Given the description of an element on the screen output the (x, y) to click on. 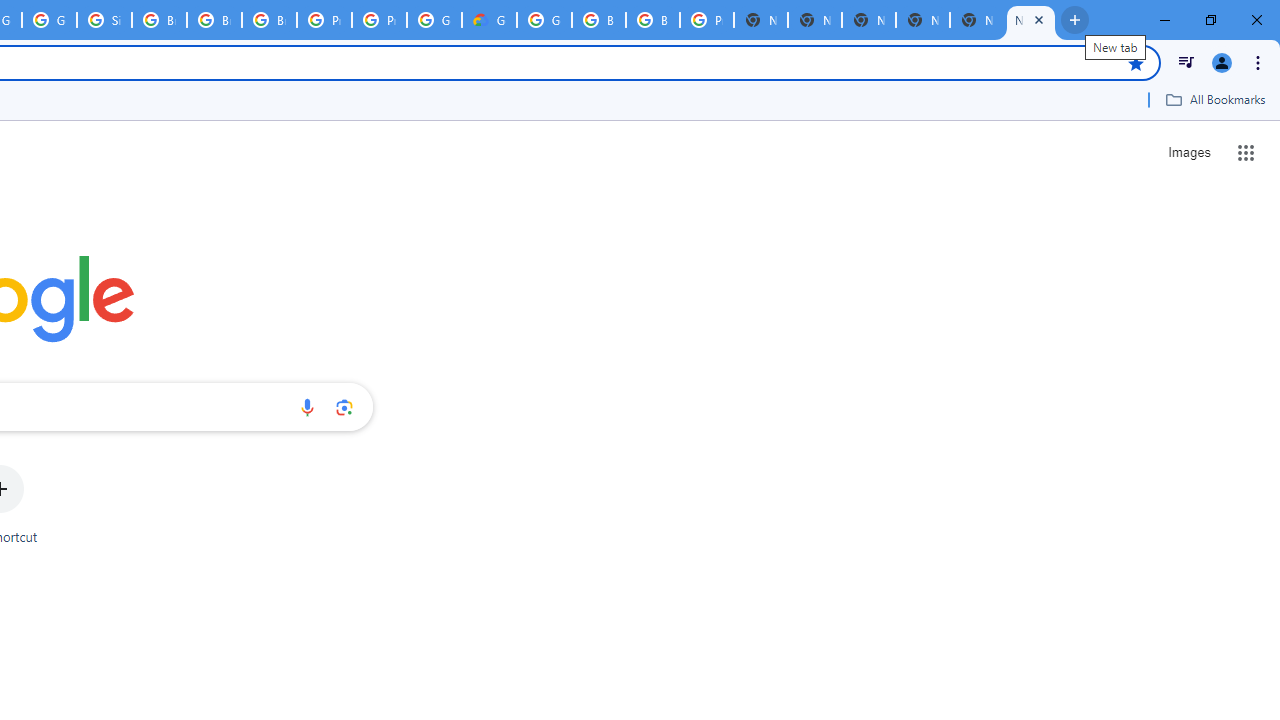
Google Cloud Estimate Summary (489, 20)
Search by image (344, 407)
Browse Chrome as a guest - Computer - Google Chrome Help (652, 20)
All Bookmarks (1215, 99)
Browse Chrome as a guest - Computer - Google Chrome Help (158, 20)
New Tab (760, 20)
Search by voice (307, 407)
Search for Images  (1188, 152)
Sign in - Google Accounts (103, 20)
